Given the description of an element on the screen output the (x, y) to click on. 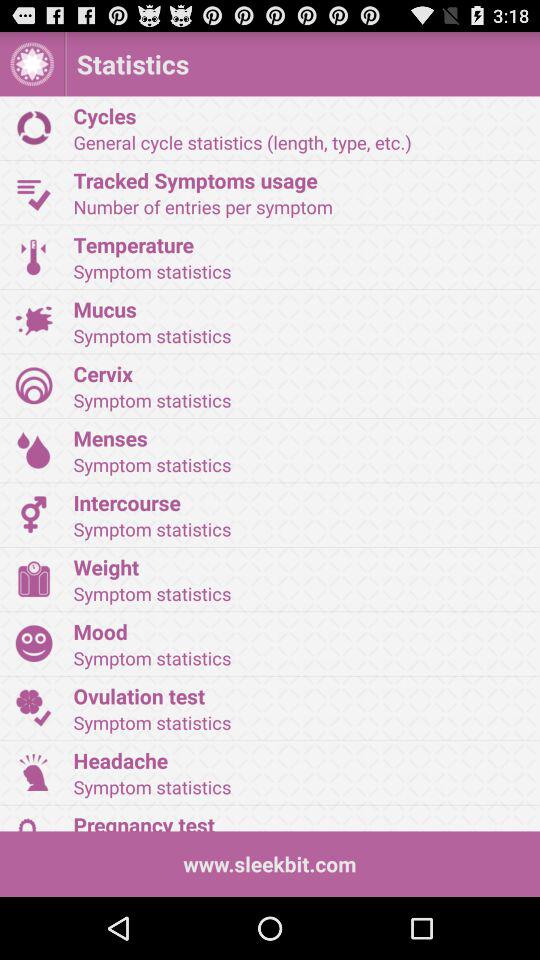
scroll to tracked symptoms usage (299, 179)
